Given the description of an element on the screen output the (x, y) to click on. 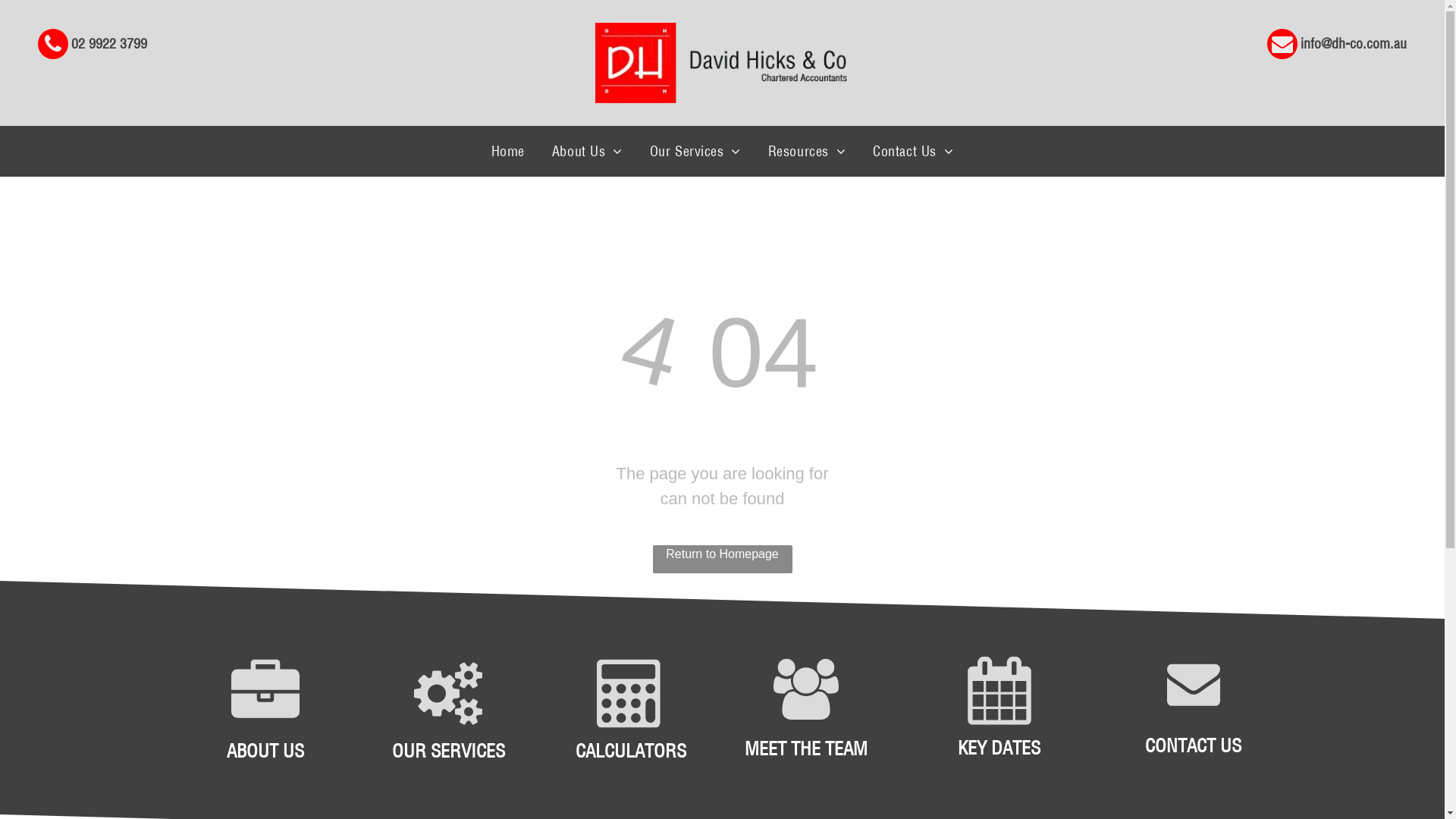
David Hicks & Co, Chartered Accountants, Milton Point NSW Element type: hover (721, 62)
MEET THE TEAM Element type: text (805, 748)
CALCULATORS Element type: text (630, 750)
Resources Element type: text (806, 150)
info@dh-co.com.au Element type: text (1336, 42)
CONTACT US Element type: text (1193, 745)
OUR SERVICES Element type: text (448, 750)
02 9922 3799 Element type: text (92, 42)
Contact Us Element type: text (912, 150)
Return to Homepage Element type: text (721, 559)
ABOUT US Element type: text (265, 750)
Our Services Element type: text (695, 150)
About Us Element type: text (587, 150)
KEY DATES Element type: text (998, 747)
Home Element type: text (507, 150)
